Given the description of an element on the screen output the (x, y) to click on. 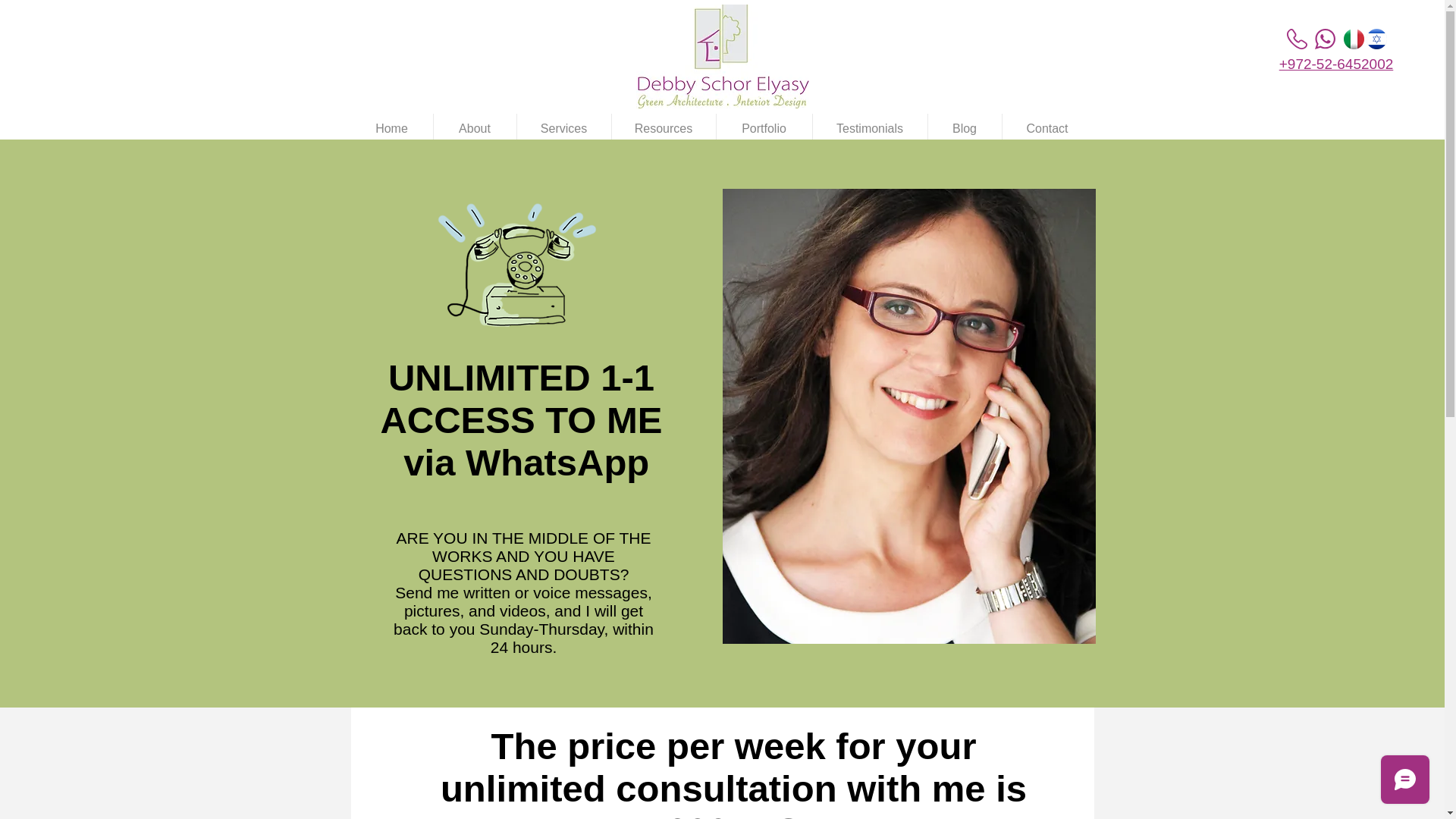
Home (391, 128)
Testimonials (869, 128)
About (474, 128)
Services (563, 128)
Blog (964, 128)
Resources (662, 128)
Contact (1048, 128)
